Given the description of an element on the screen output the (x, y) to click on. 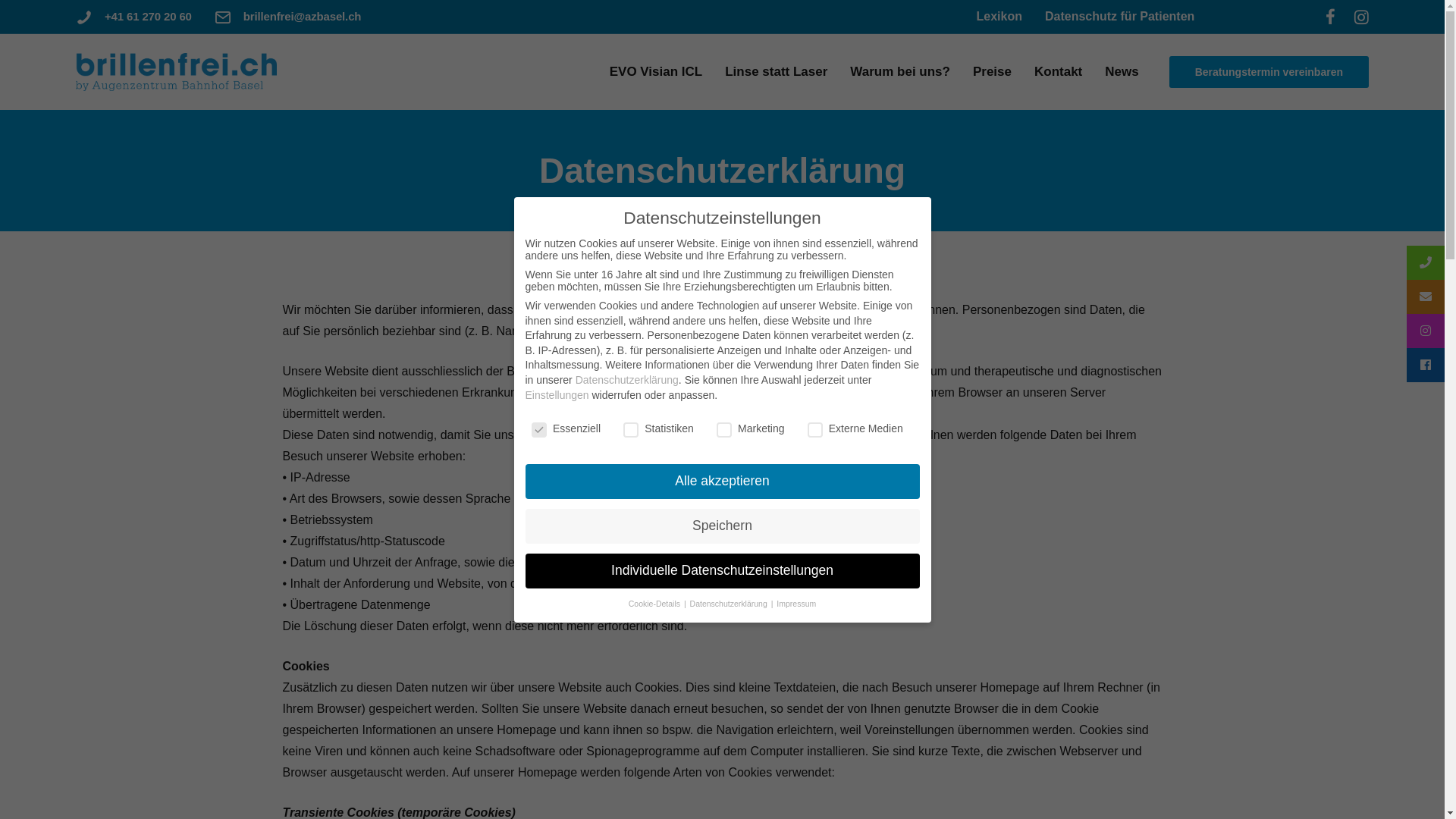
Preise Element type: text (992, 71)
Beratungstermin vereinbaren Element type: text (1268, 71)
+41 61 270 20 60 Element type: text (147, 15)
Individuelle Datenschutzeinstellungen Element type: text (721, 570)
Kontakt Element type: text (1057, 71)
Alle akzeptieren Element type: text (721, 481)
Cookie-Details Element type: text (655, 603)
Speichern Element type: text (721, 525)
Einstellungen Element type: text (556, 395)
News Element type: text (1121, 71)
EVO Visian ICL Element type: text (656, 71)
Warum bei uns? Element type: text (899, 71)
Lexikon Element type: text (998, 15)
brillenfrei@azbasel.ch Element type: text (302, 15)
Impressum Element type: text (795, 603)
Linse statt Laser Element type: text (775, 71)
